Given the description of an element on the screen output the (x, y) to click on. 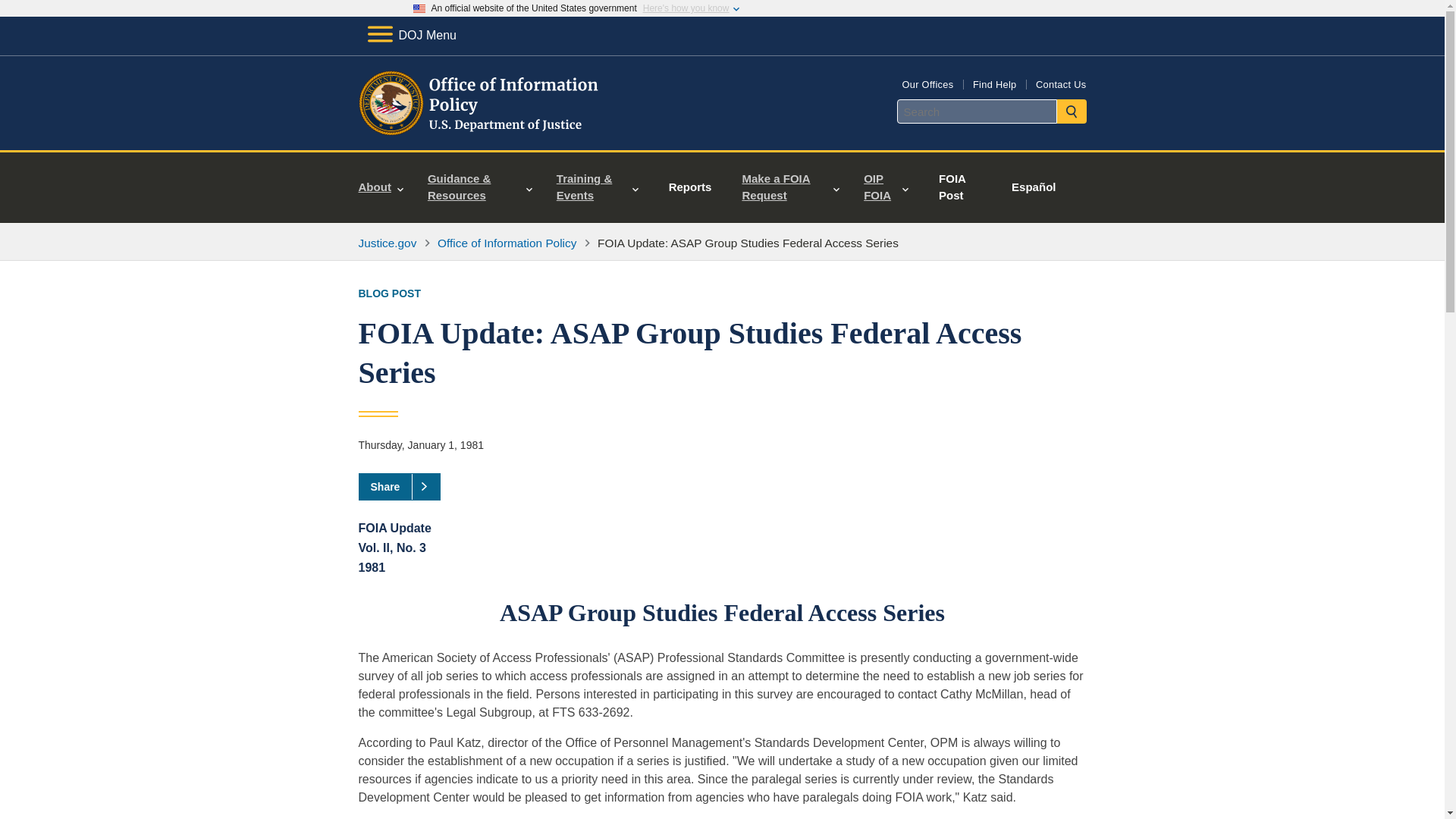
Our Offices (927, 84)
About (380, 187)
FOIA Post (956, 187)
Reports (690, 187)
DOJ Menu (411, 35)
Find Help (994, 84)
OIP FOIA (885, 187)
Contact Us (1060, 84)
Share (398, 486)
Make a FOIA Request (790, 187)
